Given the description of an element on the screen output the (x, y) to click on. 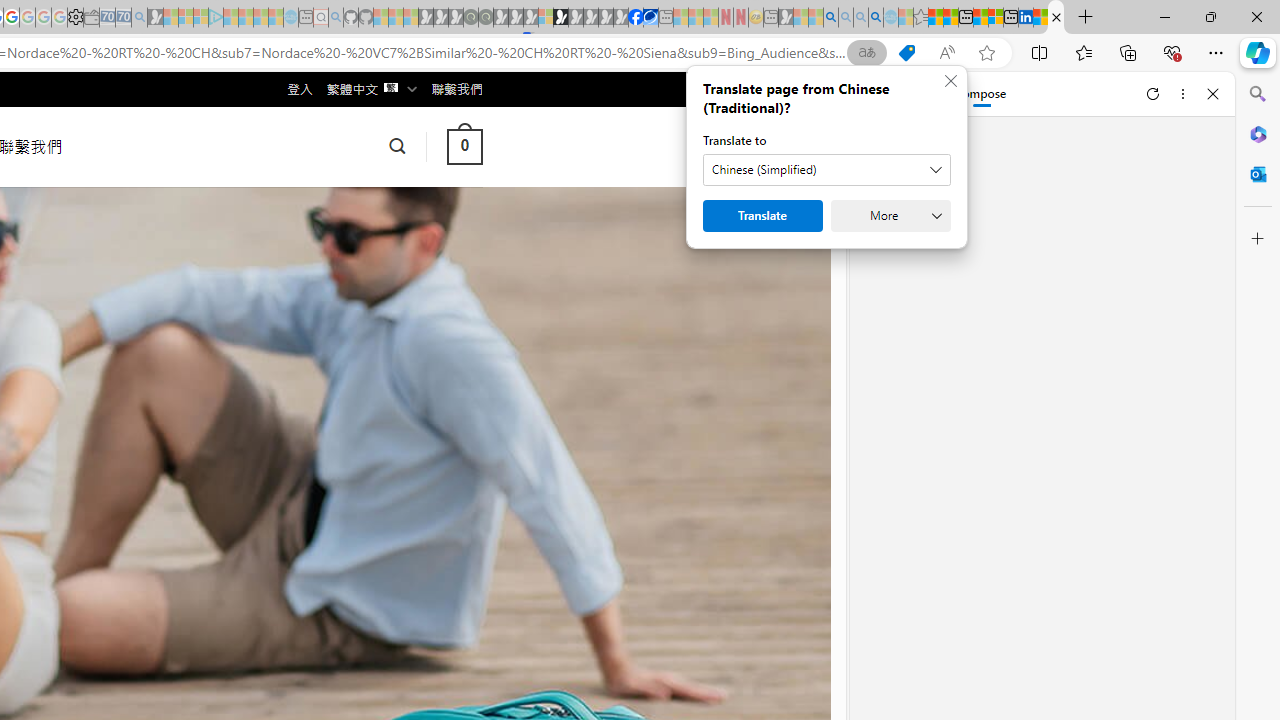
Compose (970, 93)
Google Chrome Internet Browser Download - Search Images (876, 17)
More (890, 215)
Bing AI - Search (831, 17)
